Given the description of an element on the screen output the (x, y) to click on. 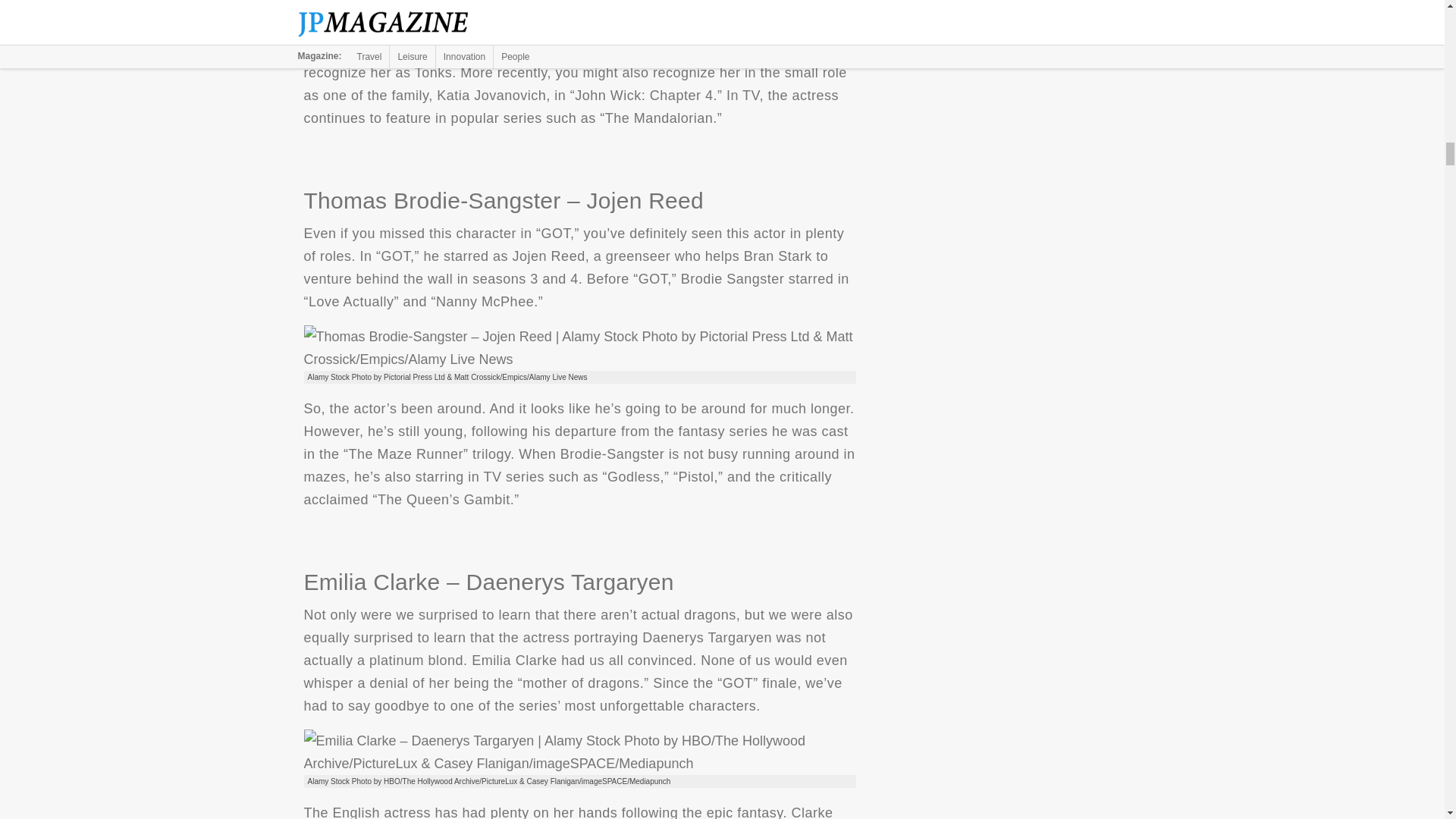
Natalia Tena - Osha (579, 6)
